Given the description of an element on the screen output the (x, y) to click on. 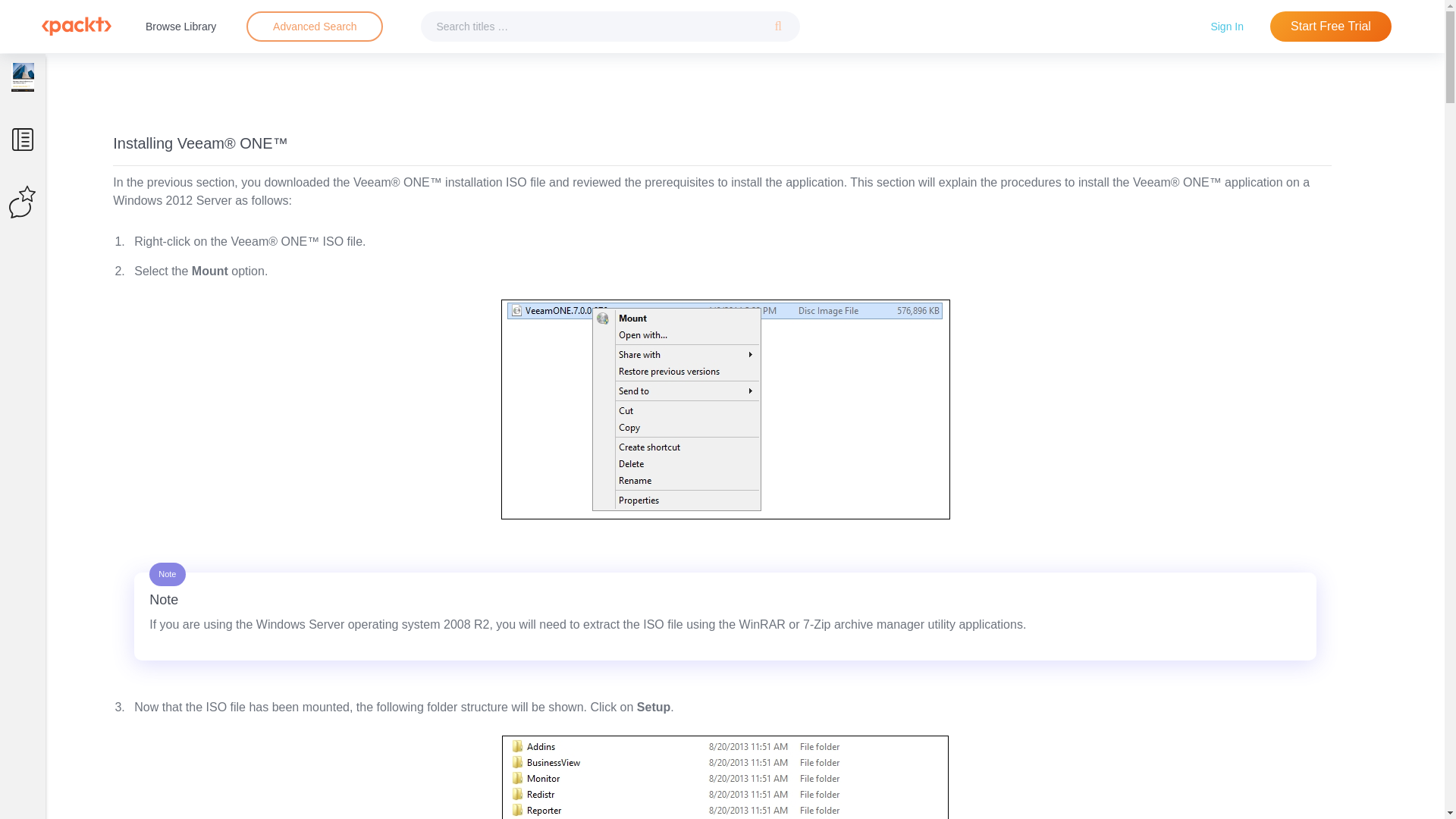
Advanced search (314, 26)
Advanced Search (314, 26)
Browse Library (180, 26)
Advanced Search (315, 26)
Sign In (1227, 26)
Start Free Trial (1330, 26)
